Given the description of an element on the screen output the (x, y) to click on. 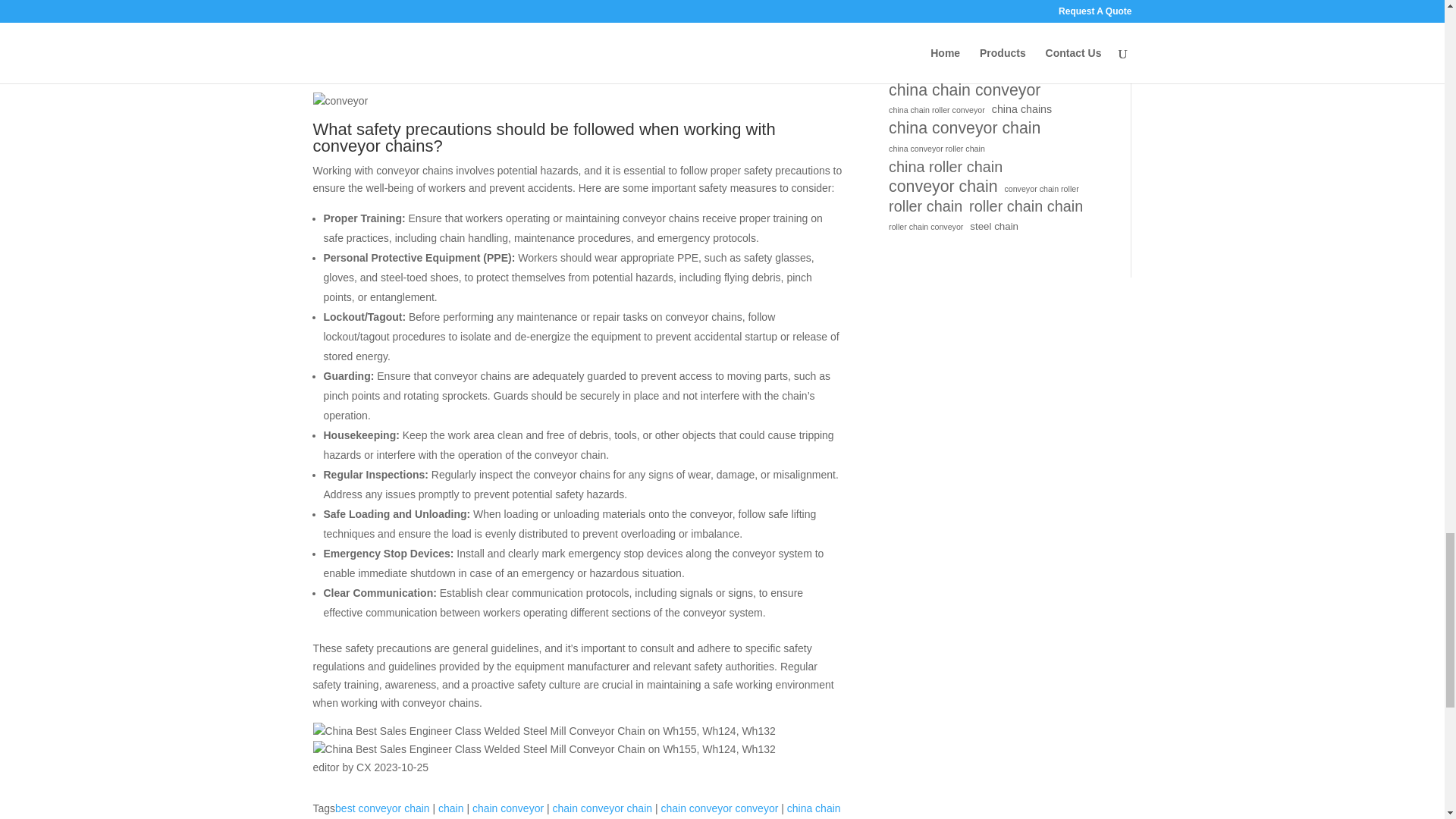
chain conveyor chain (602, 808)
chain (450, 808)
china chain (814, 808)
chain conveyor (507, 808)
best conveyor chain (381, 808)
chain conveyor conveyor (719, 808)
